Given the description of an element on the screen output the (x, y) to click on. 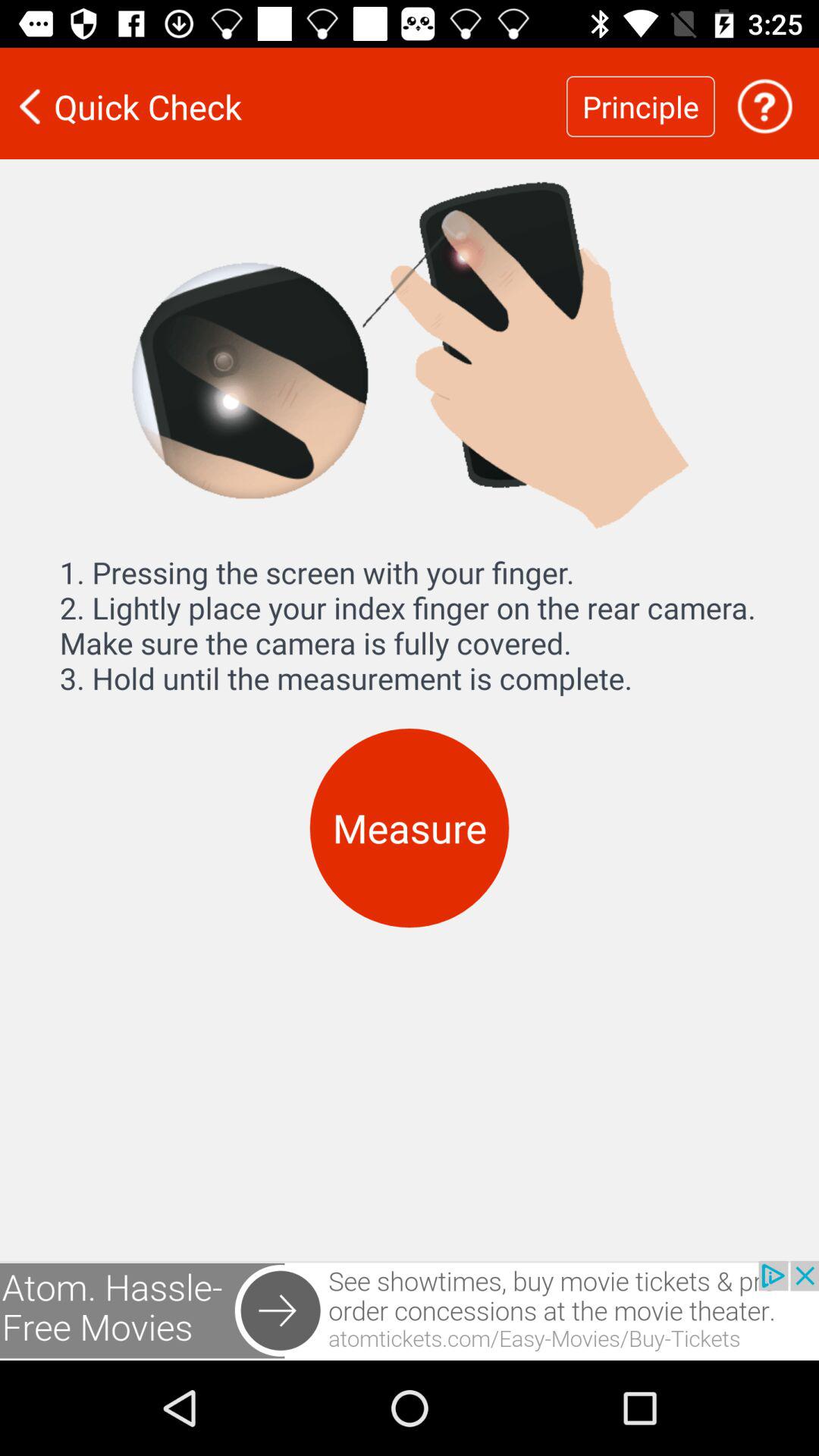
show outside advertisement (409, 1310)
